Given the description of an element on the screen output the (x, y) to click on. 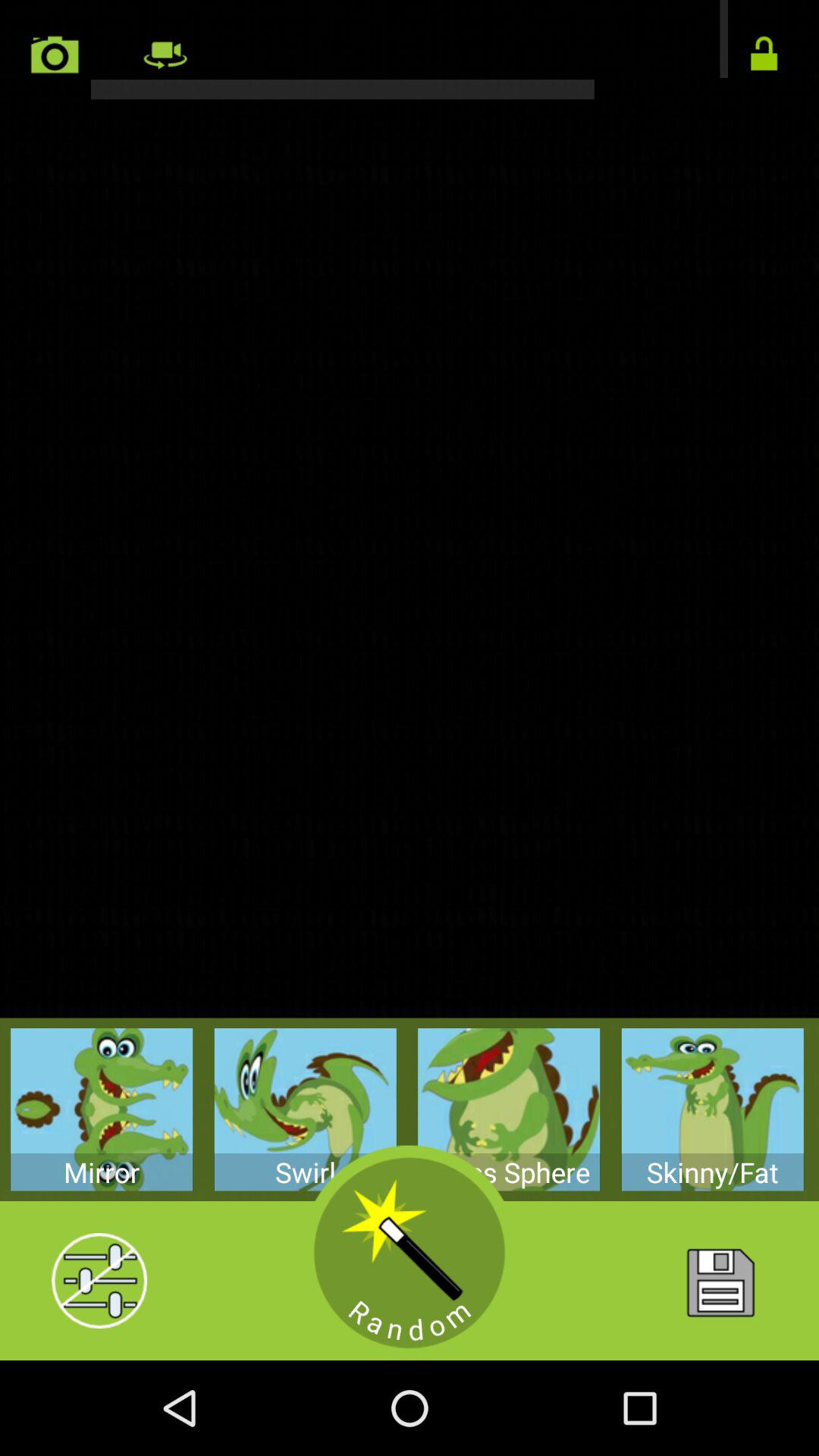
go to camera (54, 54)
